Given the description of an element on the screen output the (x, y) to click on. 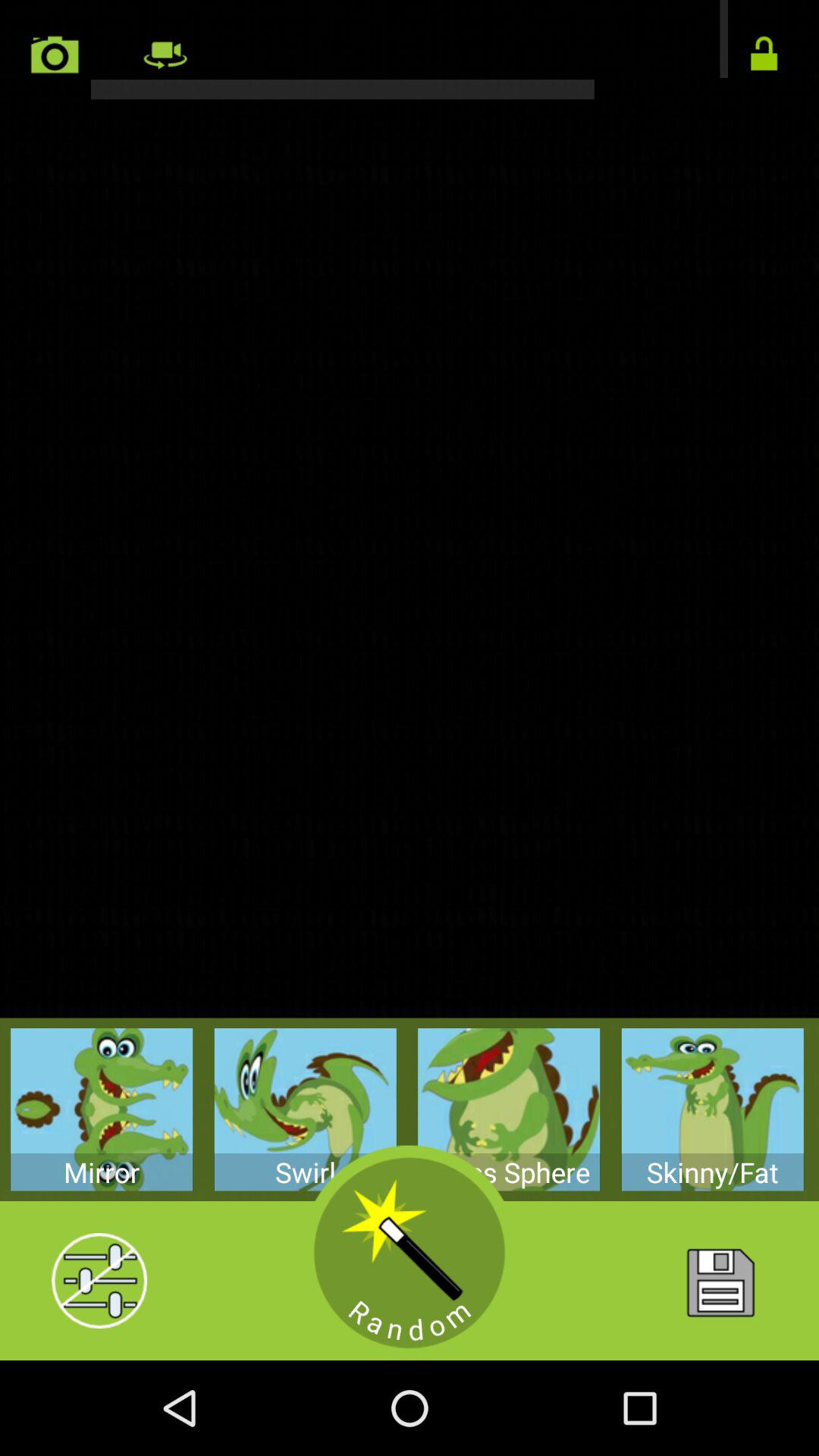
go to camera (54, 54)
